Given the description of an element on the screen output the (x, y) to click on. 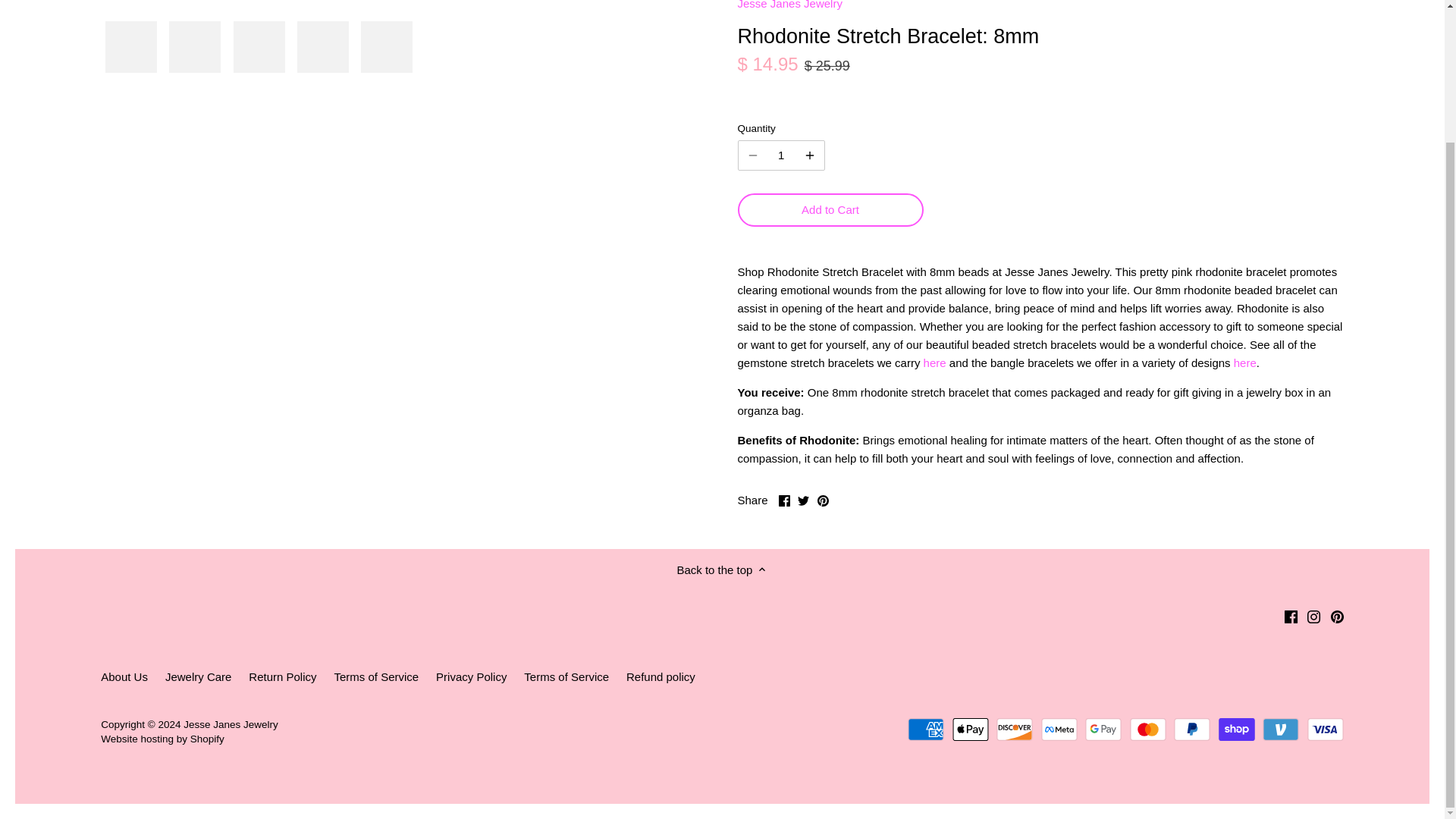
Google Pay (1102, 729)
gemstone stretch bracelets at Jesse Janes Jewelry (934, 362)
Meta Pay (1059, 729)
Facebook (784, 500)
American Express (925, 729)
Facebook (1290, 616)
here (934, 362)
Add to Cart (829, 209)
Discover (1013, 729)
Twitter (803, 500)
1 (781, 154)
bangle bracelets at Jesse Janes Jewelry (1244, 362)
Pinterest (1336, 616)
Pinterest (822, 500)
Jesse Janes Jewelry (788, 4)
